Given the description of an element on the screen output the (x, y) to click on. 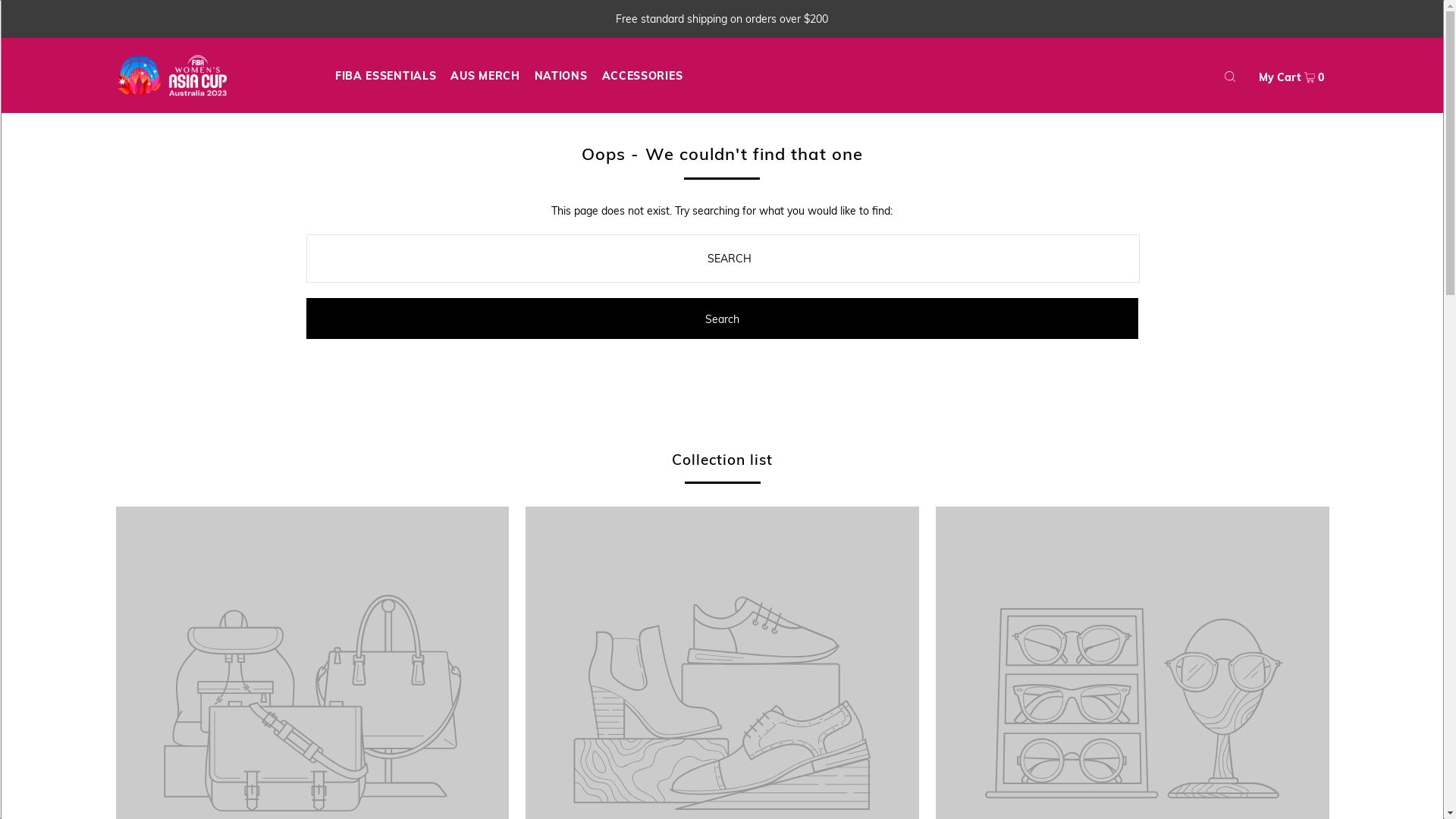
Search Element type: text (722, 318)
NATIONS Element type: text (560, 75)
AUS MERCH Element type: text (484, 75)
FIBA ESSENTIALS Element type: text (385, 75)
ACCESSORIES Element type: text (642, 75)
